Given the description of an element on the screen output the (x, y) to click on. 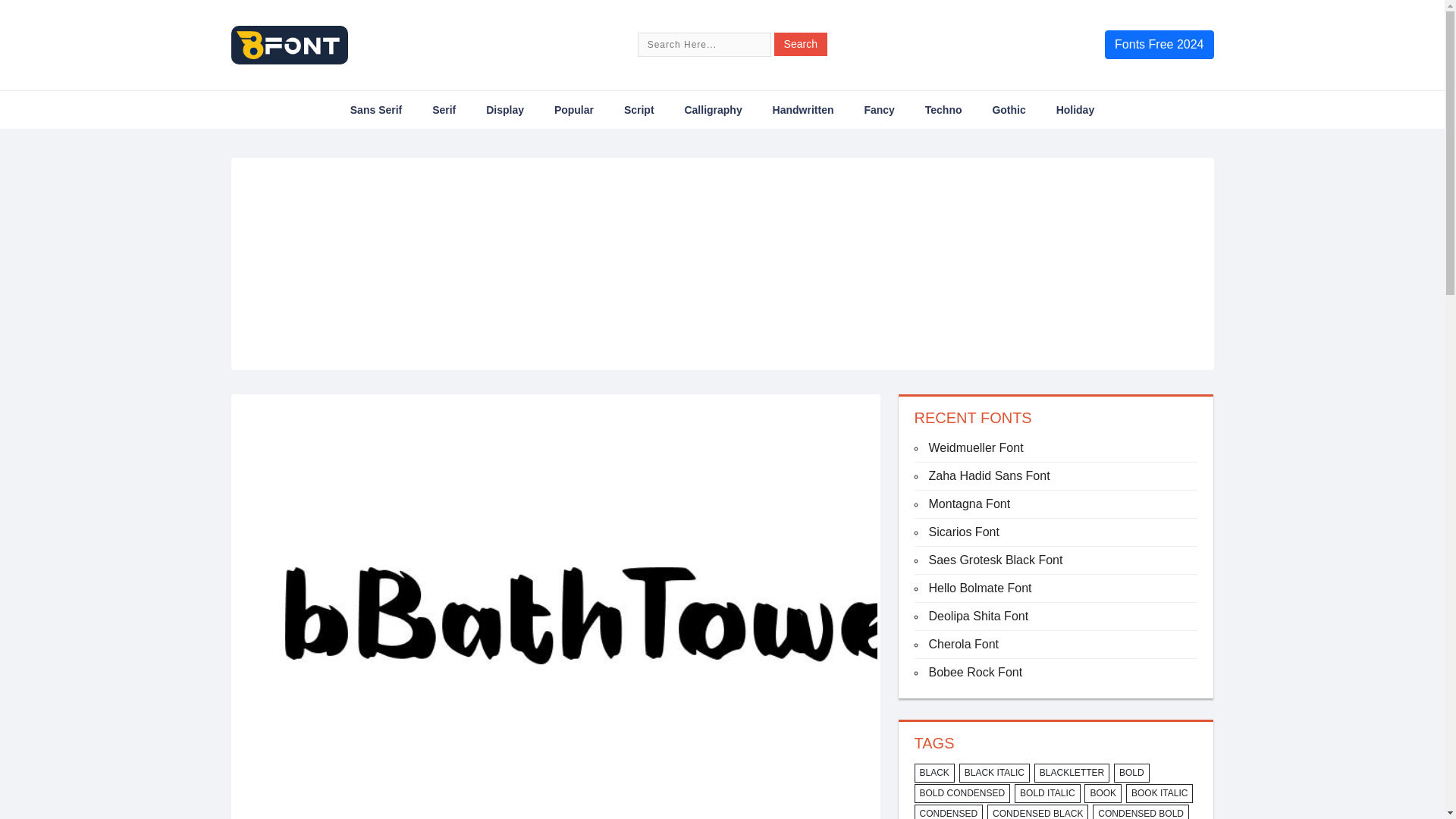
Search (800, 44)
Weidmueller Font (975, 447)
Popular (574, 109)
Zaha Hadid Sans Font (988, 475)
Search (800, 44)
Handwritten (803, 109)
Sans Serif (375, 109)
Calligraphy (712, 109)
Display (505, 109)
Techno (943, 109)
